Given the description of an element on the screen output the (x, y) to click on. 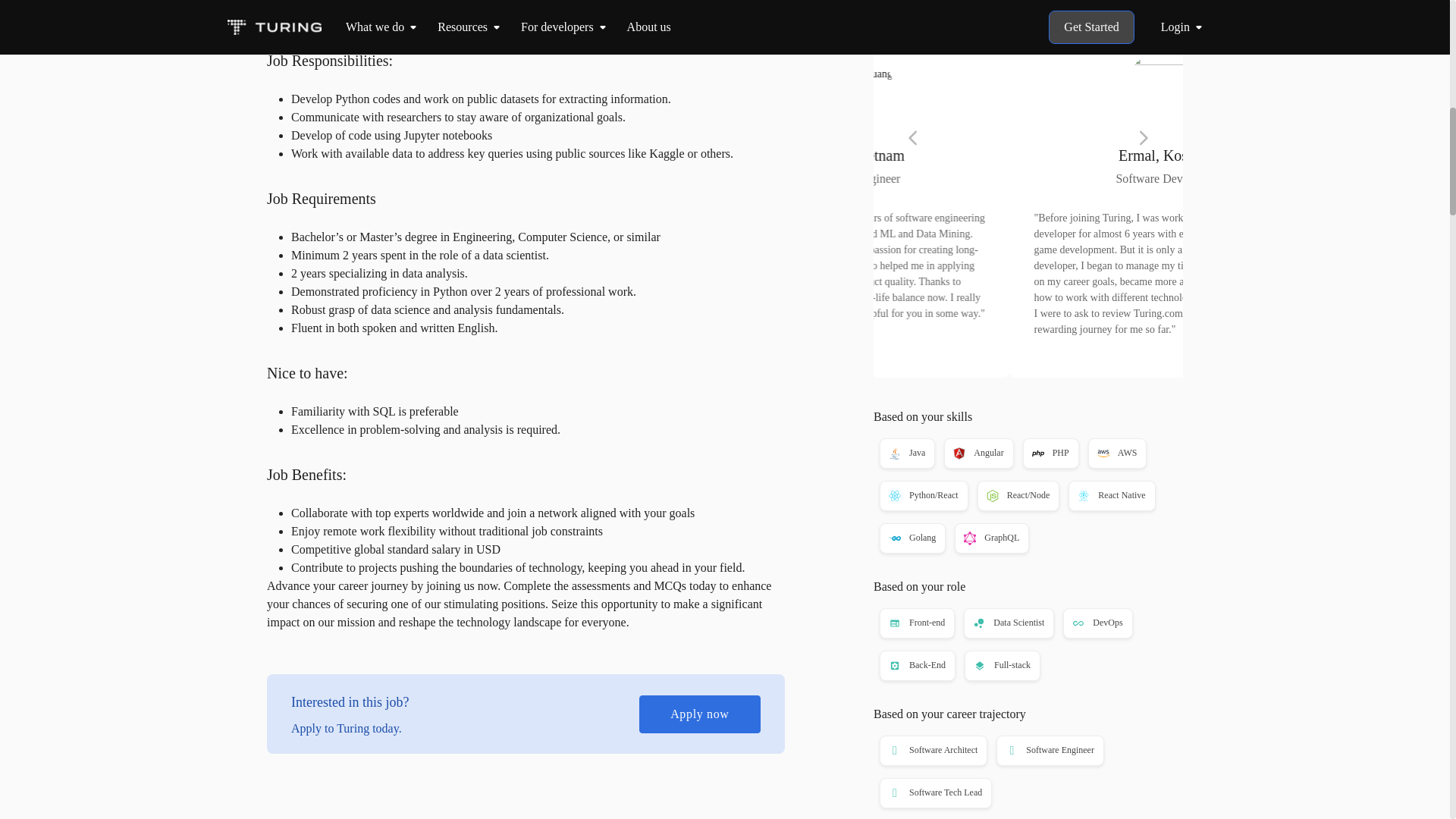
Apply now (1027, 4)
